Given the description of an element on the screen output the (x, y) to click on. 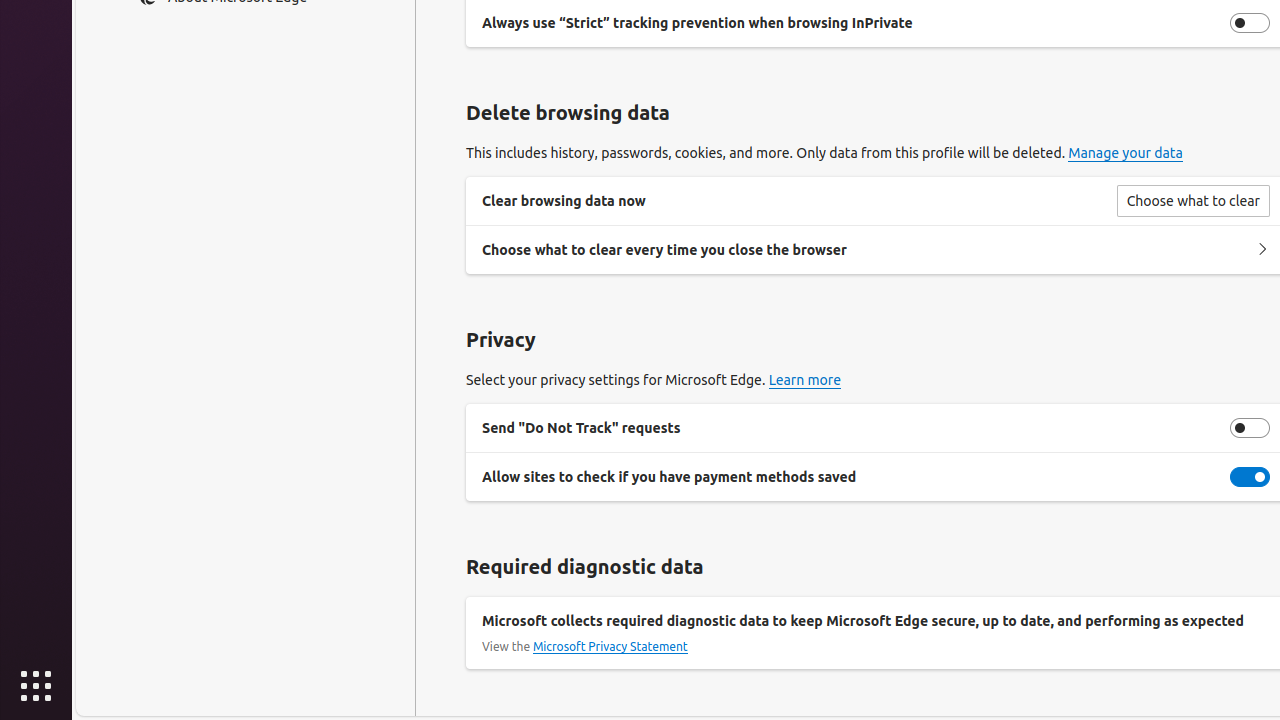
Choose what to clear every time you close the browser Element type: push-button (1262, 250)
Choose what to clear Element type: push-button (1193, 200)
Always use “Strict” tracking prevention when browsing InPrivate Element type: check-box (1250, 22)
Allow sites to check if you have payment methods saved Element type: check-box (1250, 477)
